Given the description of an element on the screen output the (x, y) to click on. 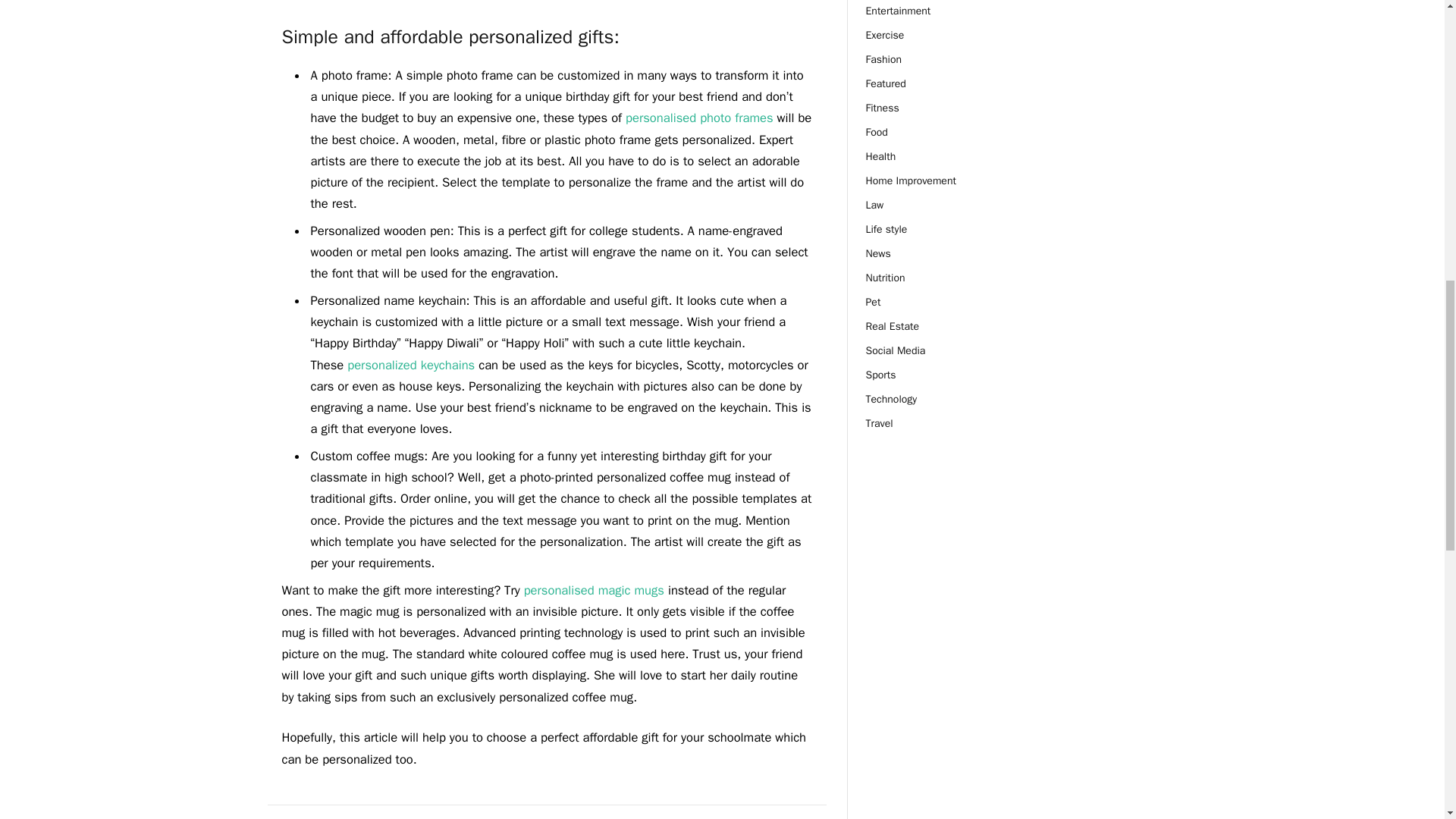
personalized keychains (410, 365)
personalised photo frames (699, 117)
personalised magic mugs (593, 590)
